Given the description of an element on the screen output the (x, y) to click on. 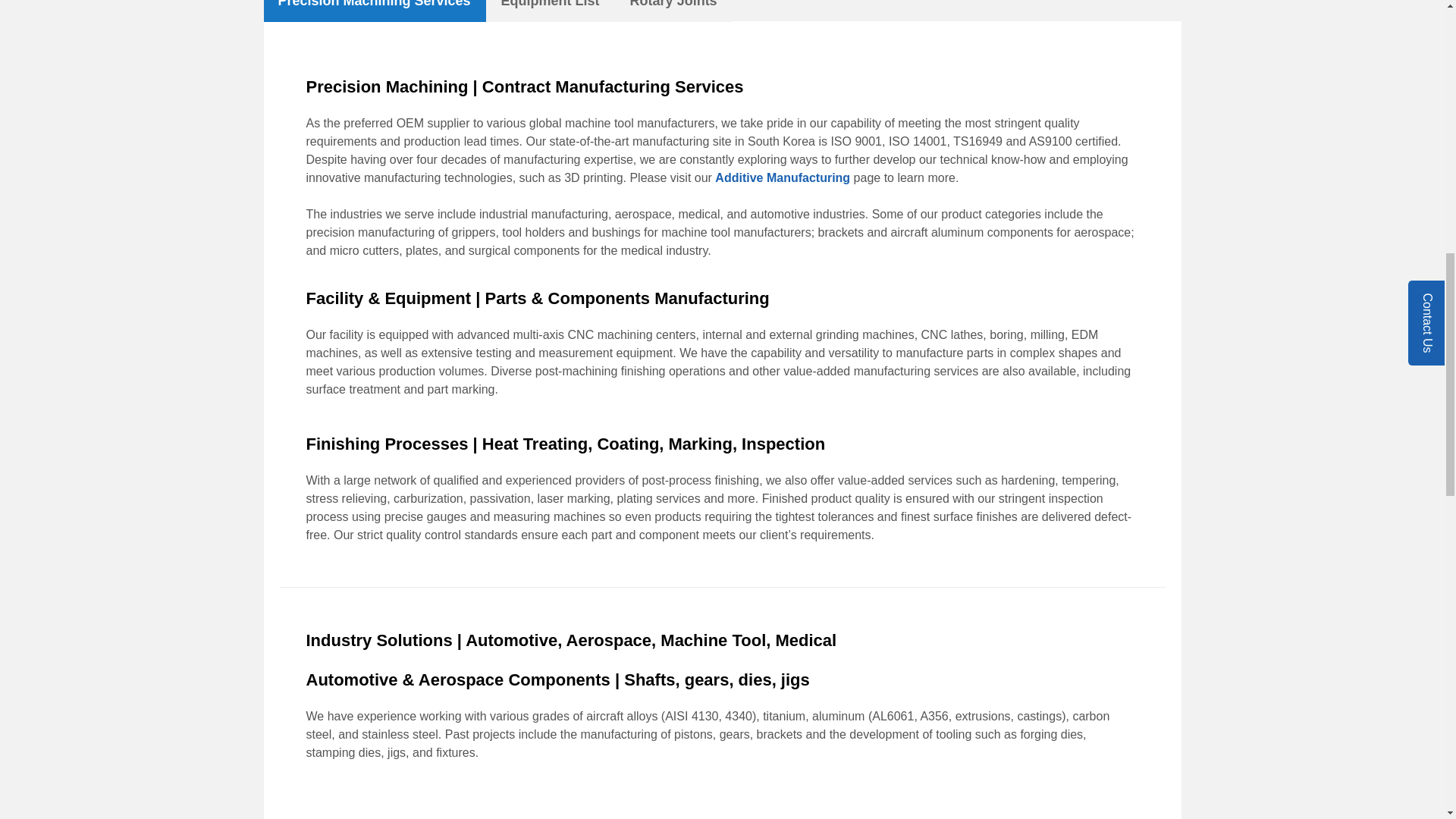
Precision Machined Shafts (1000, 797)
